Given the description of an element on the screen output the (x, y) to click on. 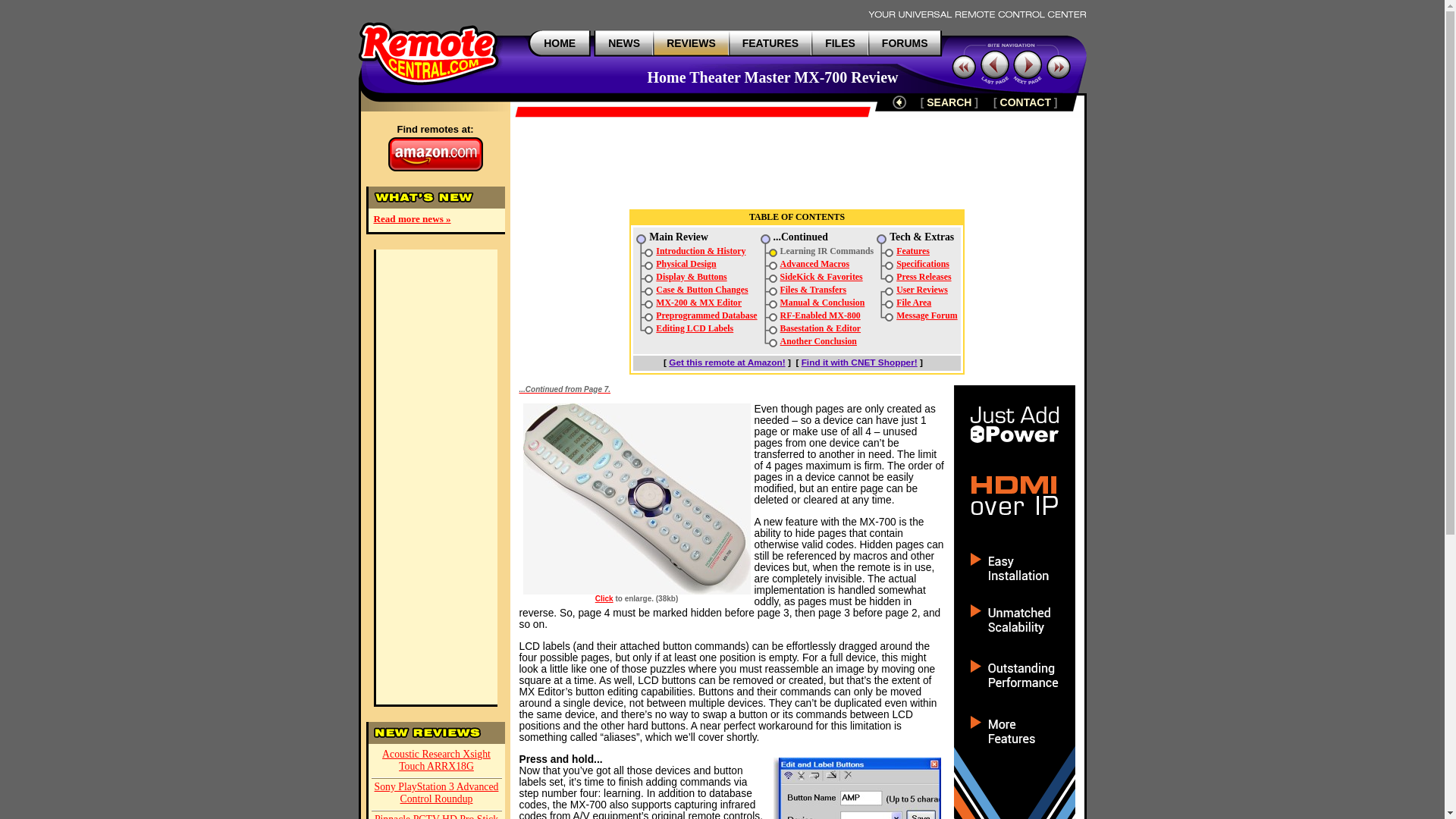
Message Forum (926, 315)
Exclusive in-depth reviews (691, 42)
FORUMS (905, 42)
File Area (913, 302)
Get in touch (1025, 102)
Preprogrammed Database (706, 315)
Physical Design (686, 263)
FILES (840, 42)
Click (603, 598)
Find out what's new (624, 42)
Acoustic Research Xsight Touch ARRX18G (436, 761)
CONTACT (1025, 102)
Press Releases (923, 276)
Pinnacle PCTV HD Pro Stick HDTV Tuner (436, 815)
Main site index (559, 42)
